Given the description of an element on the screen output the (x, y) to click on. 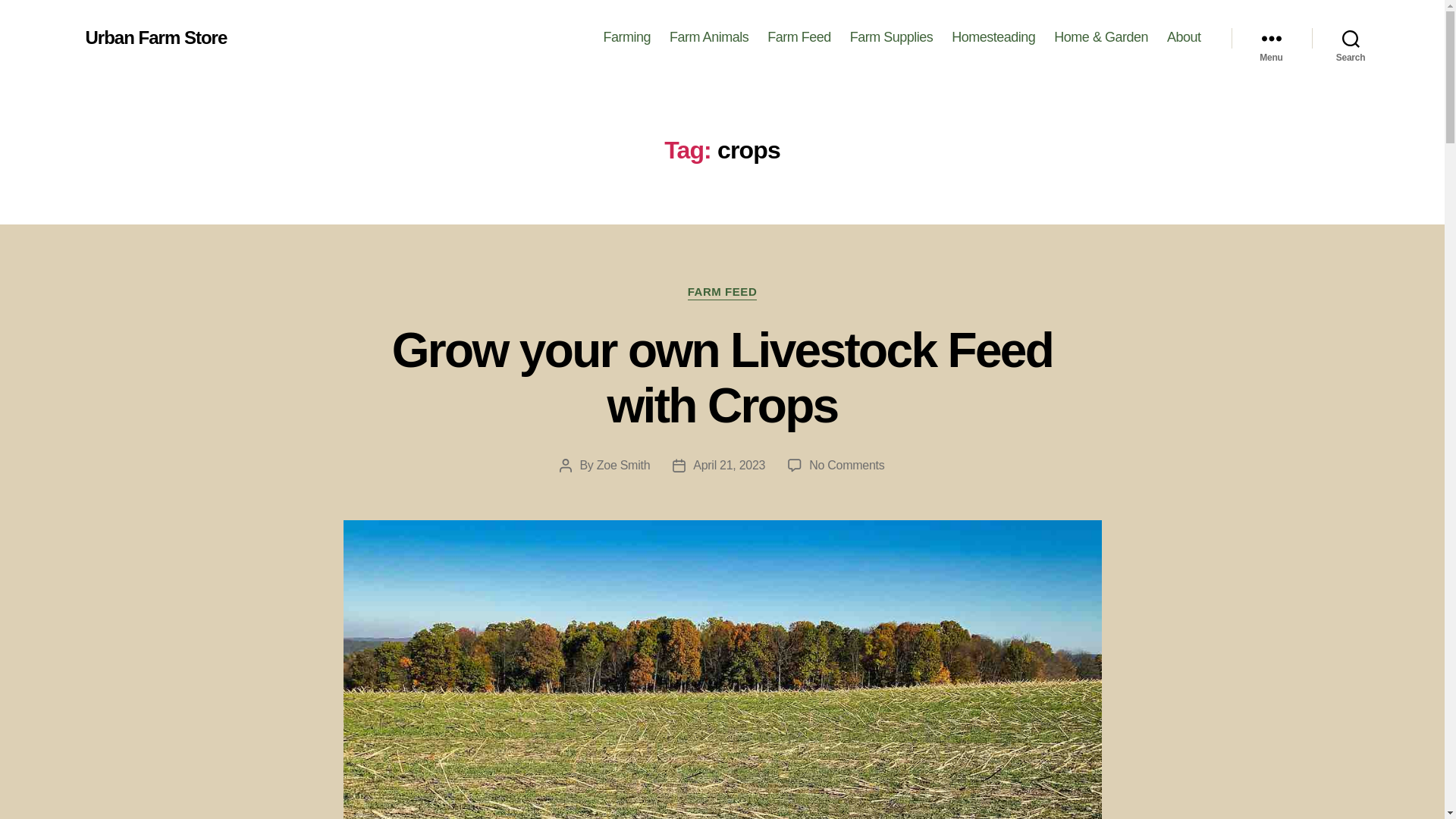
Farm Animals (708, 37)
Farming (627, 37)
About (1184, 37)
Search (1350, 37)
Urban Farm Store (155, 37)
Farm Supplies (891, 37)
Homesteading (993, 37)
Menu (1271, 37)
Farm Feed (799, 37)
